Given the description of an element on the screen output the (x, y) to click on. 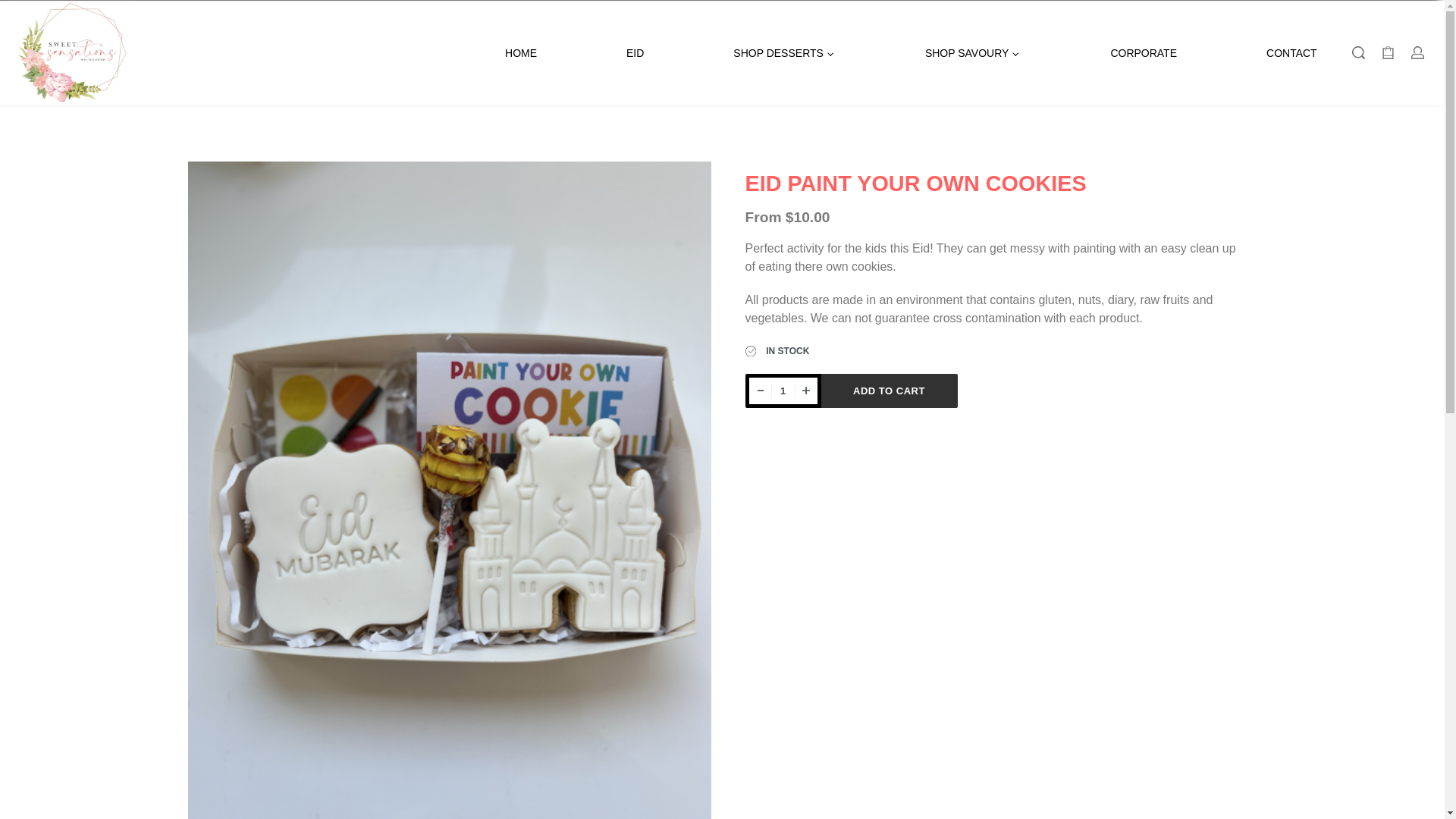
SHOP DESSERTS (784, 54)
CORPORATE (1142, 54)
1 (782, 390)
EID (634, 54)
HOME (521, 54)
CONTACT (1291, 54)
SHOP SAVOURY (972, 54)
